Given the description of an element on the screen output the (x, y) to click on. 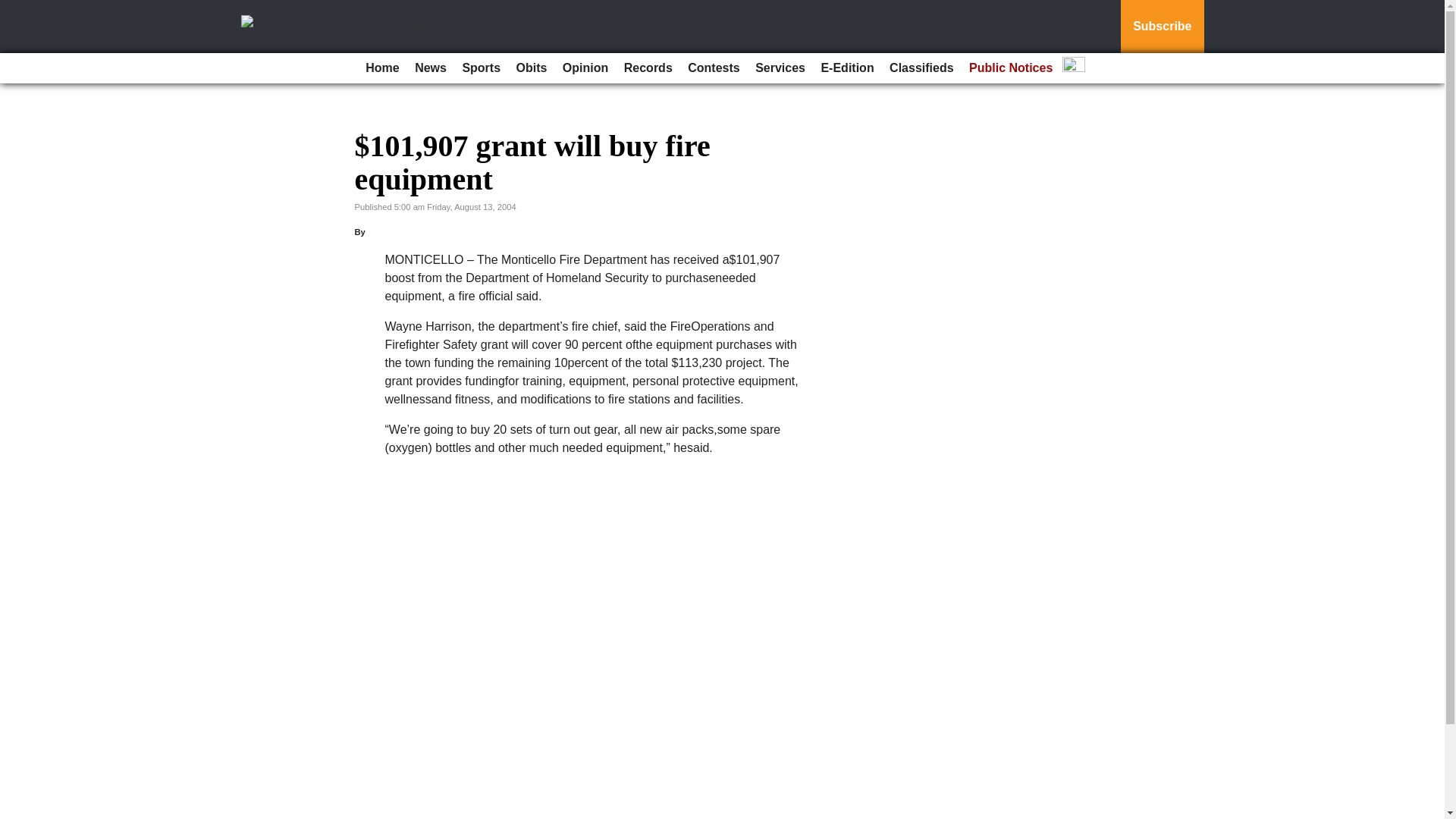
Records (647, 68)
Contests (713, 68)
Opinion (585, 68)
E-Edition (846, 68)
Public Notices (1010, 68)
Sports (480, 68)
Subscribe (1162, 26)
Go (13, 9)
Services (779, 68)
Home (381, 68)
